Given the description of an element on the screen output the (x, y) to click on. 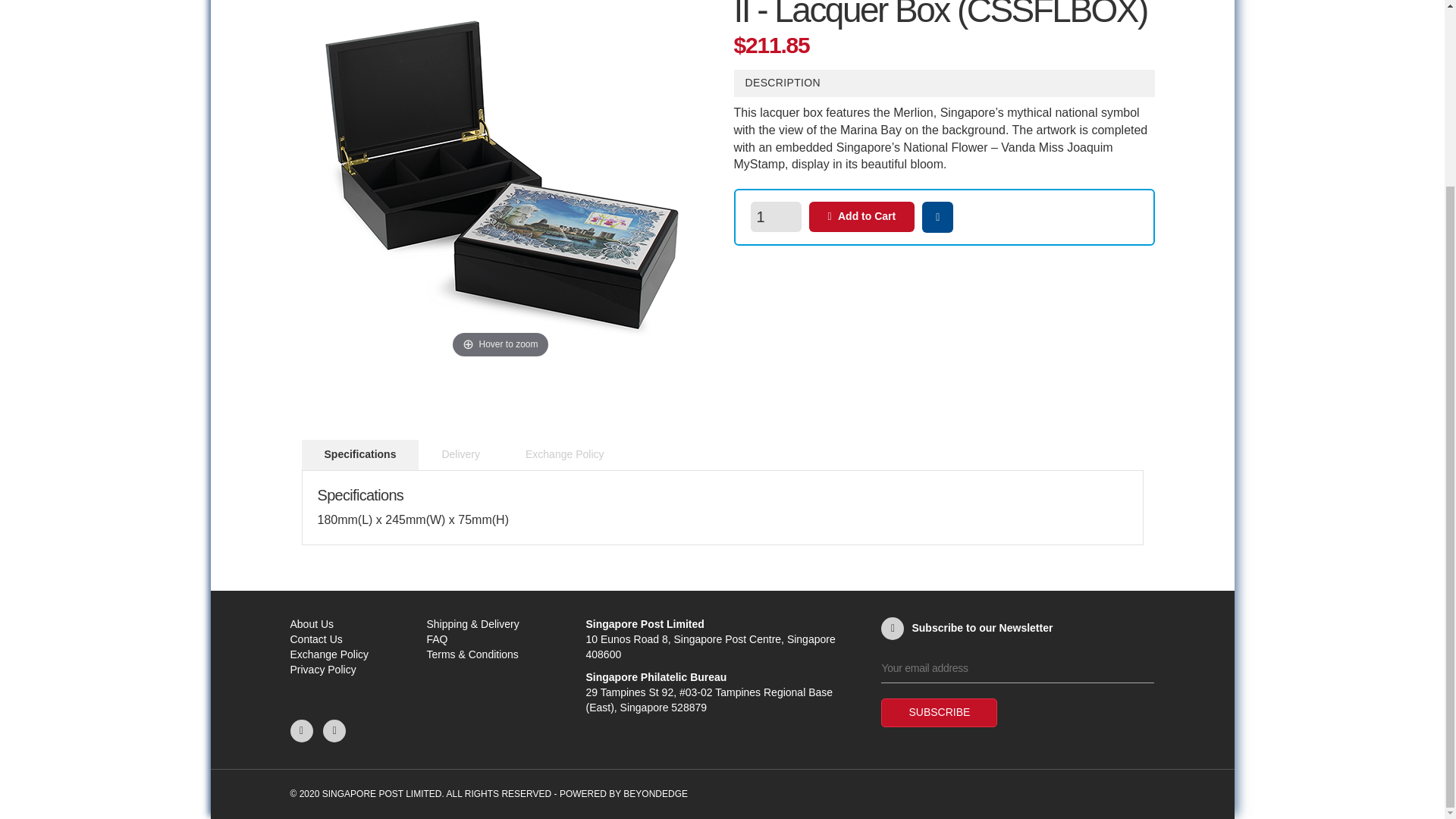
Add to Wish List (937, 216)
Add to Cart (861, 216)
1 (775, 216)
Qty (775, 216)
